Given the description of an element on the screen output the (x, y) to click on. 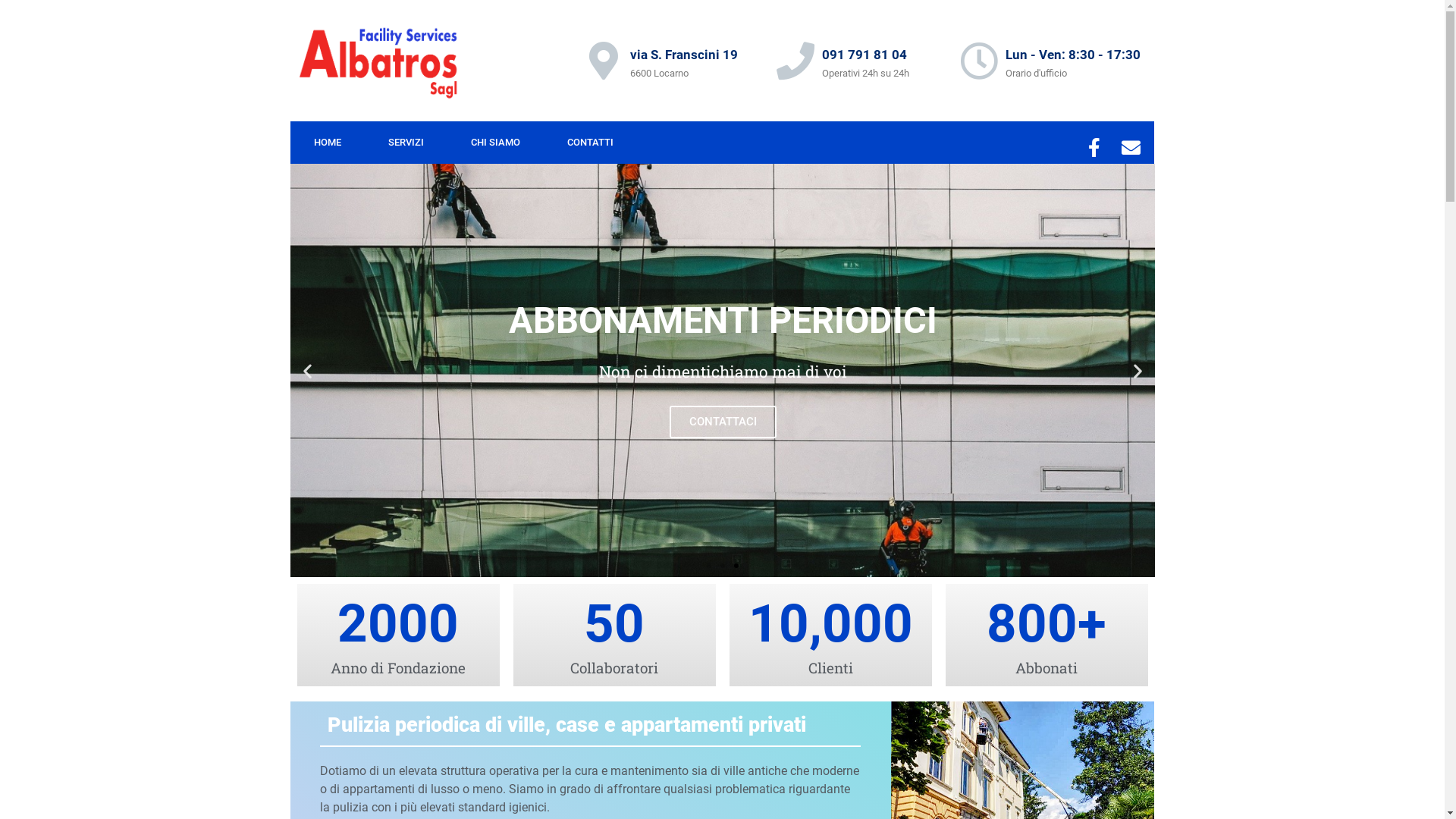
SERVIZI Element type: text (405, 142)
CONTATTI Element type: text (589, 142)
091 791 81 04 Element type: text (864, 54)
CHI SIAMO Element type: text (495, 142)
HOME Element type: text (326, 142)
